Given the description of an element on the screen output the (x, y) to click on. 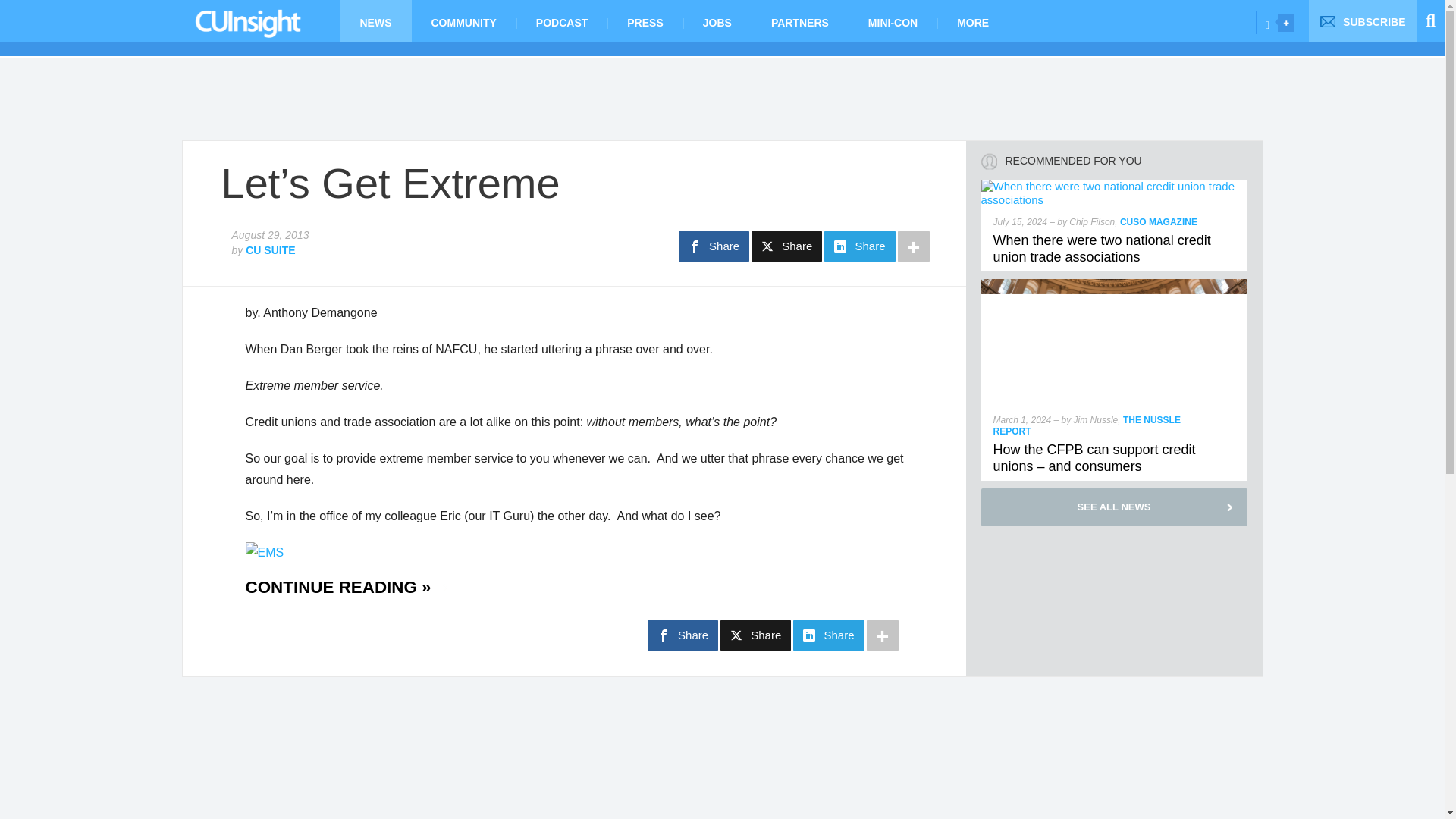
NEWS (374, 21)
Share (713, 246)
PODCAST (561, 21)
Opener (1286, 22)
MORE (973, 21)
When there were two national credit union trade associations (1101, 248)
SUBSCRIBE (1362, 21)
CU SUITE (270, 250)
COMMUNITY (462, 21)
PARTNERS (799, 21)
